Given the description of an element on the screen output the (x, y) to click on. 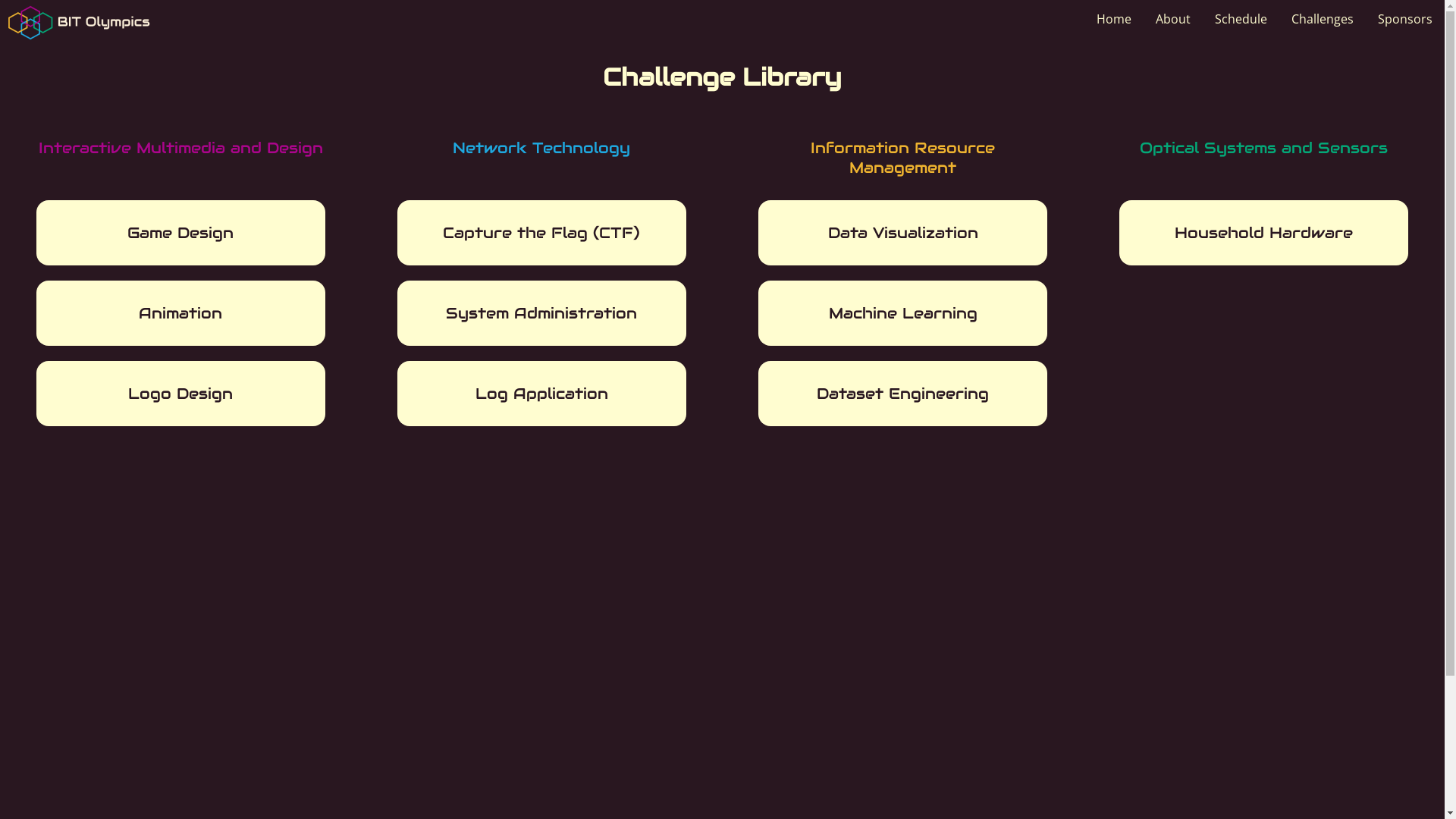
Schedule Element type: text (1240, 18)
Challenges Element type: text (1322, 18)
Household Hardware Element type: text (1263, 232)
Game Design Element type: text (180, 232)
System Administration Element type: text (541, 313)
Data Visualization Element type: text (902, 232)
Home Element type: text (1113, 18)
Logo Design Element type: text (180, 393)
Machine Learning Element type: text (902, 313)
About Element type: text (1172, 18)
Dataset Engineering Element type: text (902, 393)
Capture the Flag (CTF) Element type: text (541, 232)
Sponsors Element type: text (1404, 18)
Animation Element type: text (180, 313)
Log Application Element type: text (541, 393)
